Given the description of an element on the screen output the (x, y) to click on. 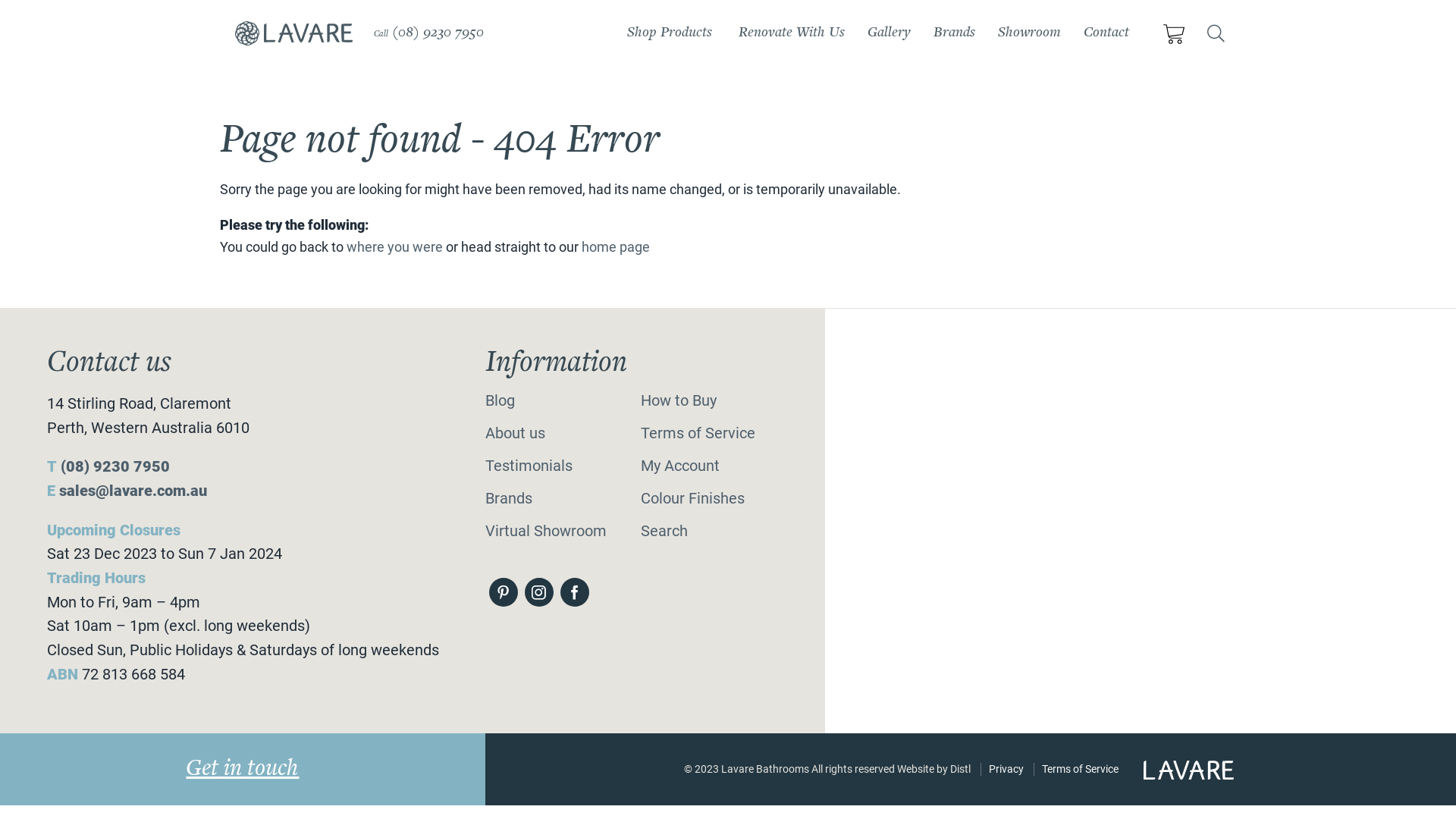
NAV LOGO DESKTOP DARK Created with Sketch. Element type: text (293, 33)
where you were Element type: text (394, 246)
Get in touch Element type: text (242, 769)
Colour Finishes Element type: text (692, 498)
Gallery Element type: text (889, 32)
(08) 9230 7950 Element type: text (437, 32)
Blog Element type: text (499, 400)
Terms of Service Element type: text (1079, 768)
Renovate With Us Element type: text (791, 32)
Brands Element type: text (508, 498)
Brands Element type: text (954, 32)
(08) 9230 7950 Element type: text (114, 466)
Privacy Element type: text (1005, 768)
About us Element type: text (515, 433)
Terms of Service Element type: text (697, 433)
How to Buy Element type: text (678, 400)
home page Element type: text (615, 246)
sales@lavare.com.au Element type: text (133, 490)
Shop Products Element type: text (669, 32)
My Account Element type: text (679, 465)
Showroom Element type: text (1029, 32)
Search Element type: text (663, 530)
Contact Element type: text (1106, 32)
Testimonials Element type: text (528, 465)
Virtual Showroom Element type: text (545, 530)
